Given the description of an element on the screen output the (x, y) to click on. 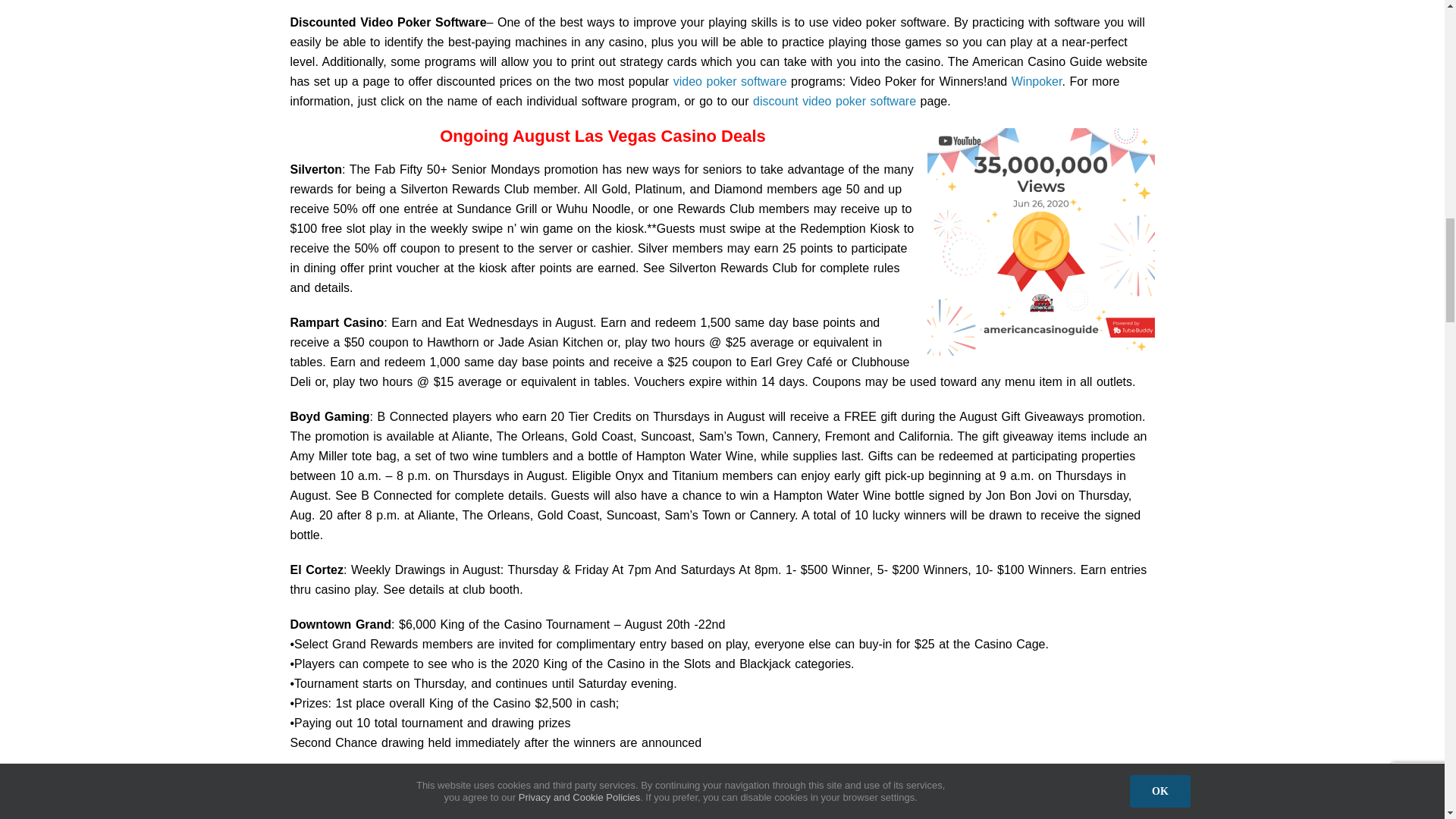
video poker software (729, 81)
discount video poker software (833, 101)
Winpoker Software  (1036, 81)
